Given the description of an element on the screen output the (x, y) to click on. 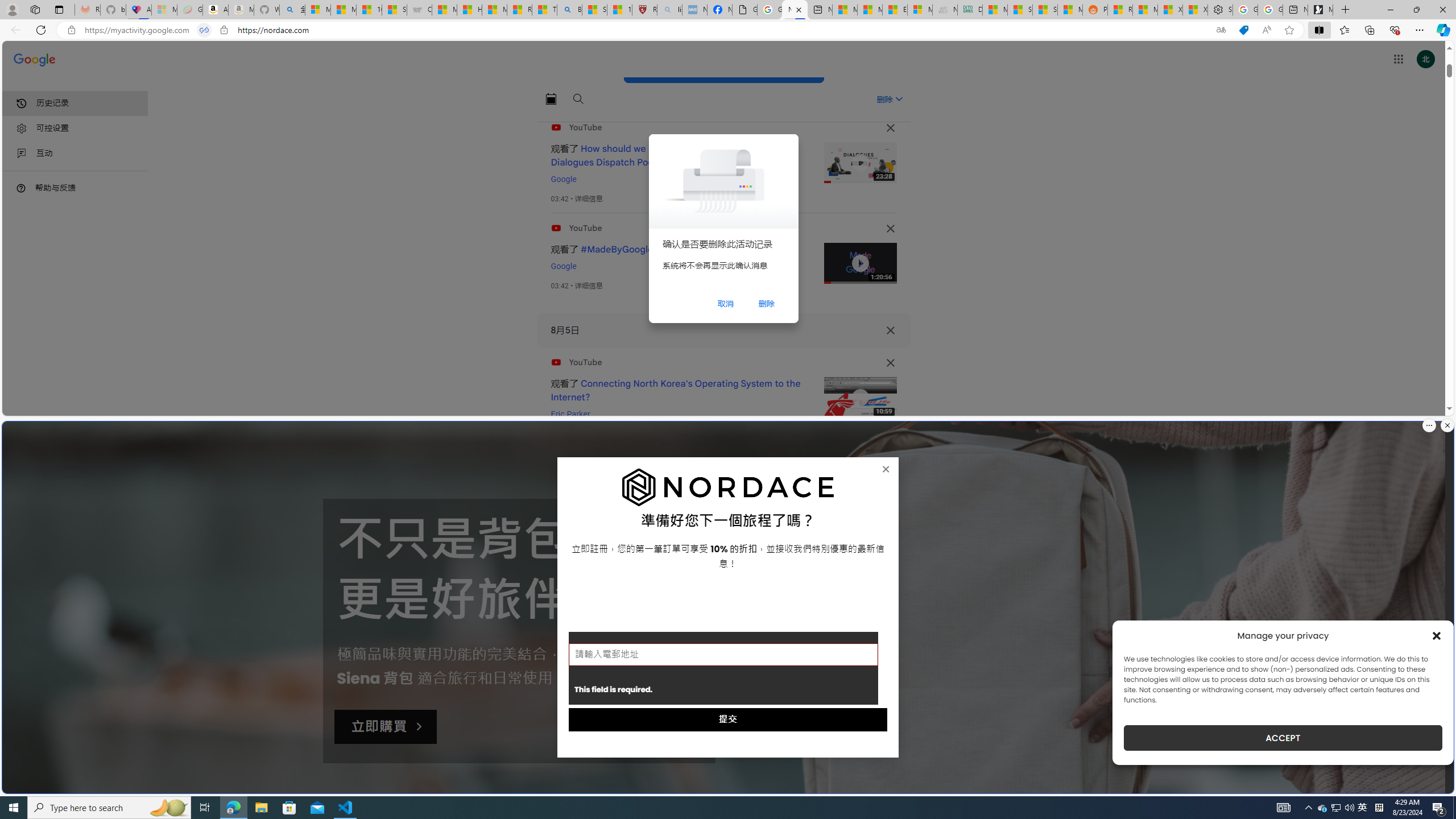
Class: cmplz-close (1436, 635)
ACCEPT (1283, 737)
R******* | Trusted Community Engagement and Contributions (1119, 9)
Entertainment - MSN (894, 9)
